Given the description of an element on the screen output the (x, y) to click on. 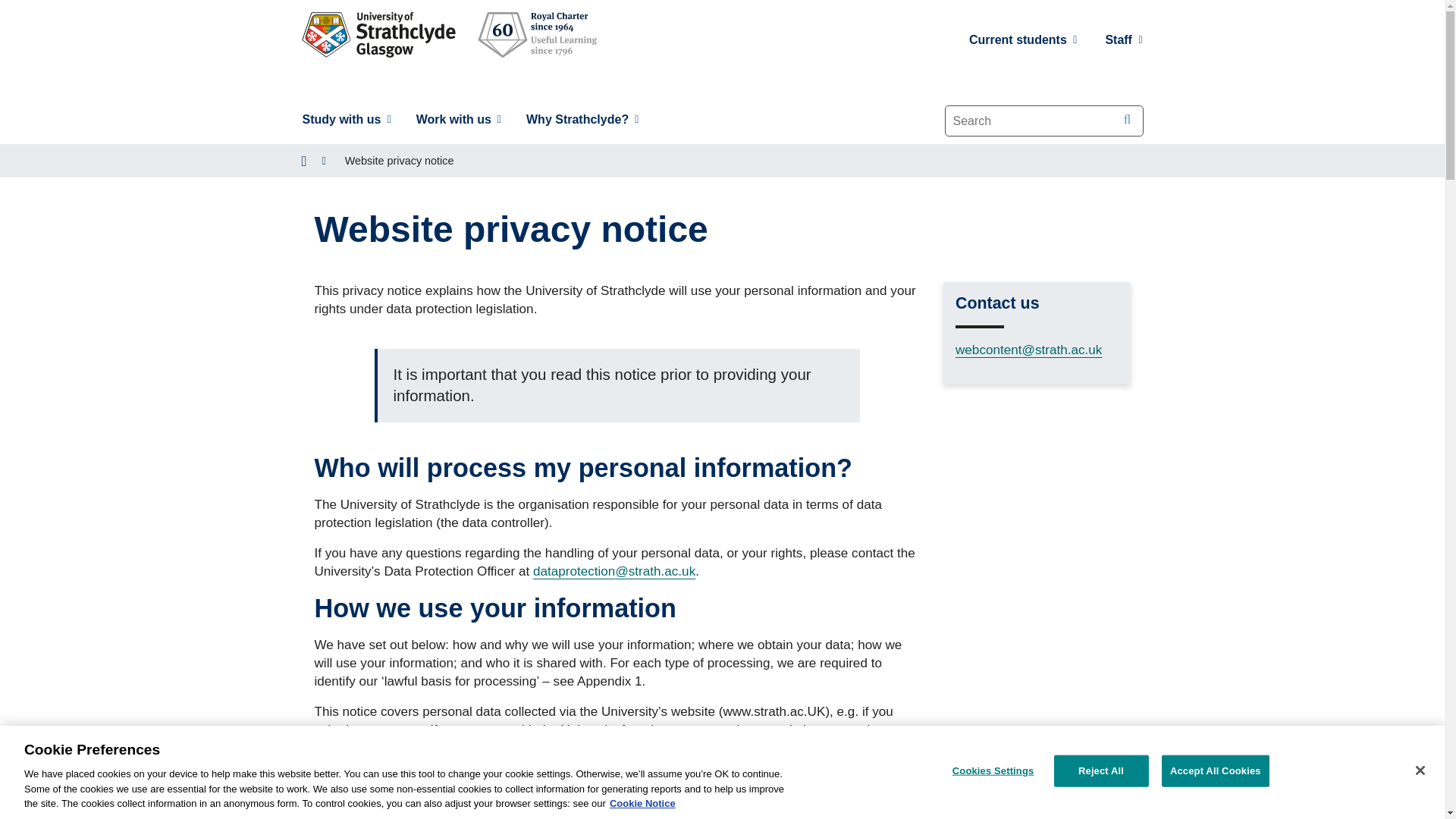
Why Strathclyde? (582, 119)
Current students (1024, 39)
Work with us (457, 119)
Study with us (346, 119)
